Given the description of an element on the screen output the (x, y) to click on. 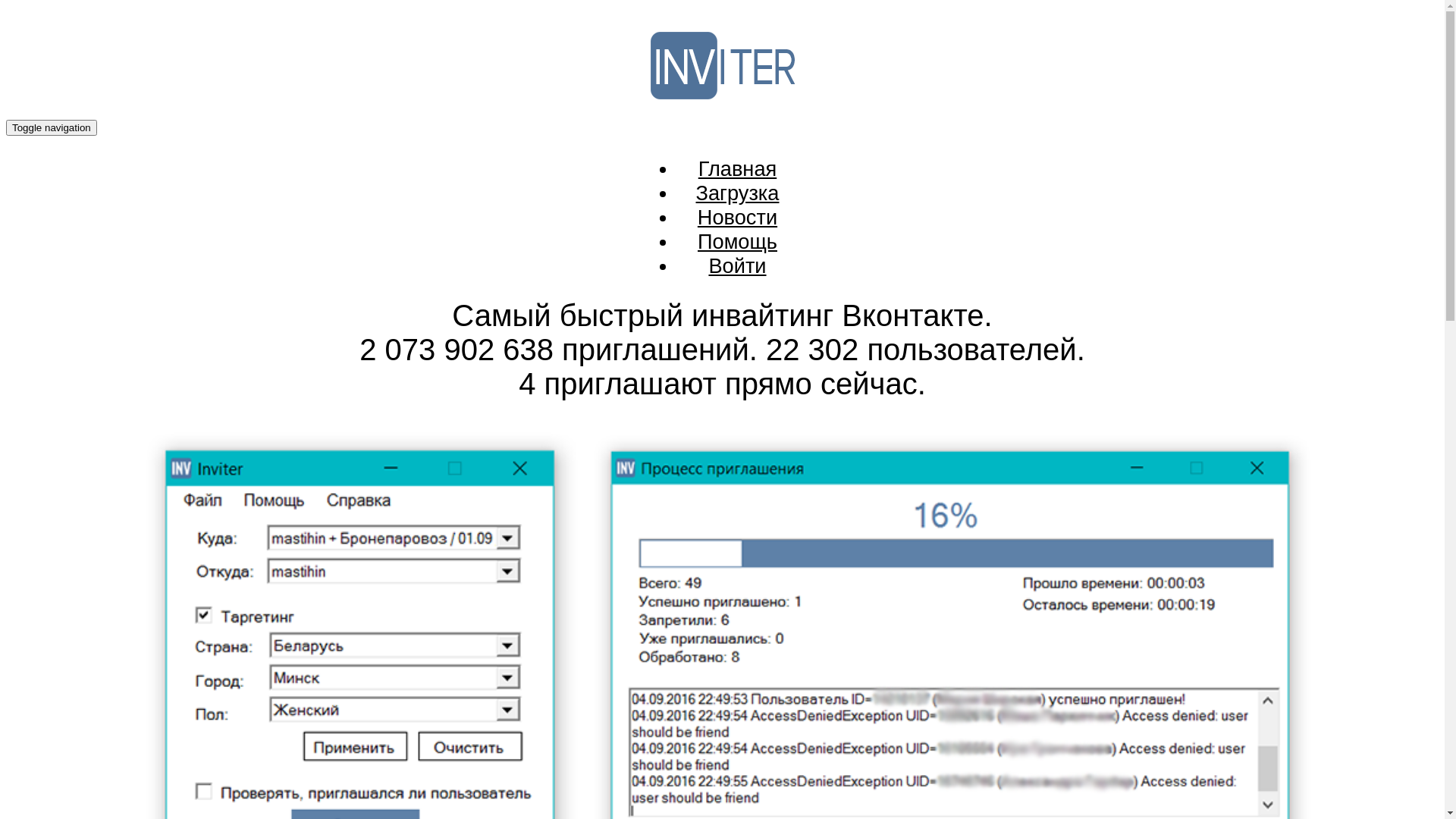
Toggle navigation Element type: text (51, 127)
